Given the description of an element on the screen output the (x, y) to click on. 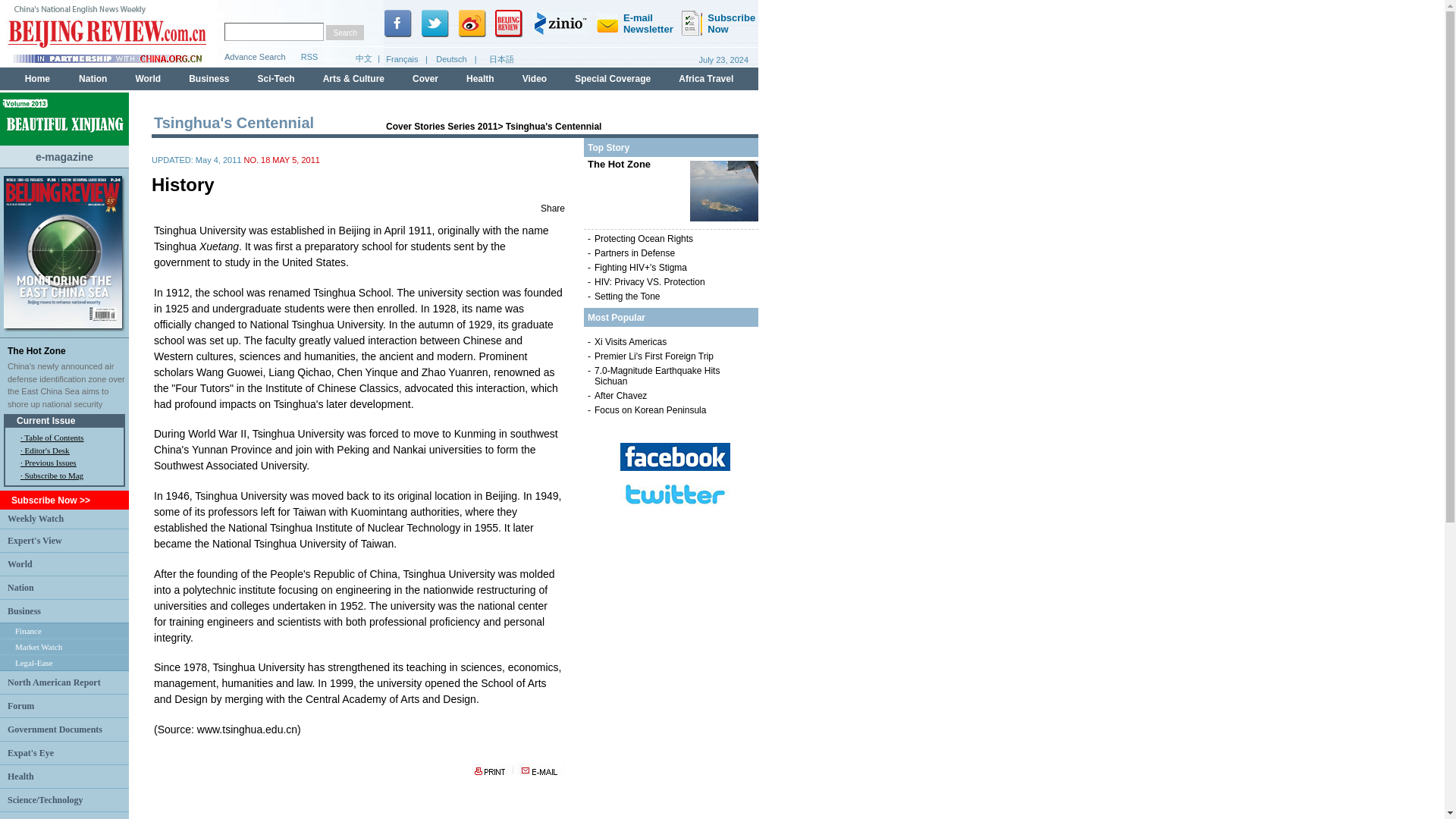
Editor's Desk (46, 450)
North American Report (53, 681)
Weekly Watch (35, 518)
Lifestyle (23, 818)
Health (20, 775)
Forum (20, 706)
Business (23, 610)
Government Documents (54, 728)
The Hot Zone (36, 350)
World (19, 562)
Nation (20, 587)
Legal-Ease (33, 662)
Expat's Eye (30, 752)
Market Watch (38, 646)
